Given the description of an element on the screen output the (x, y) to click on. 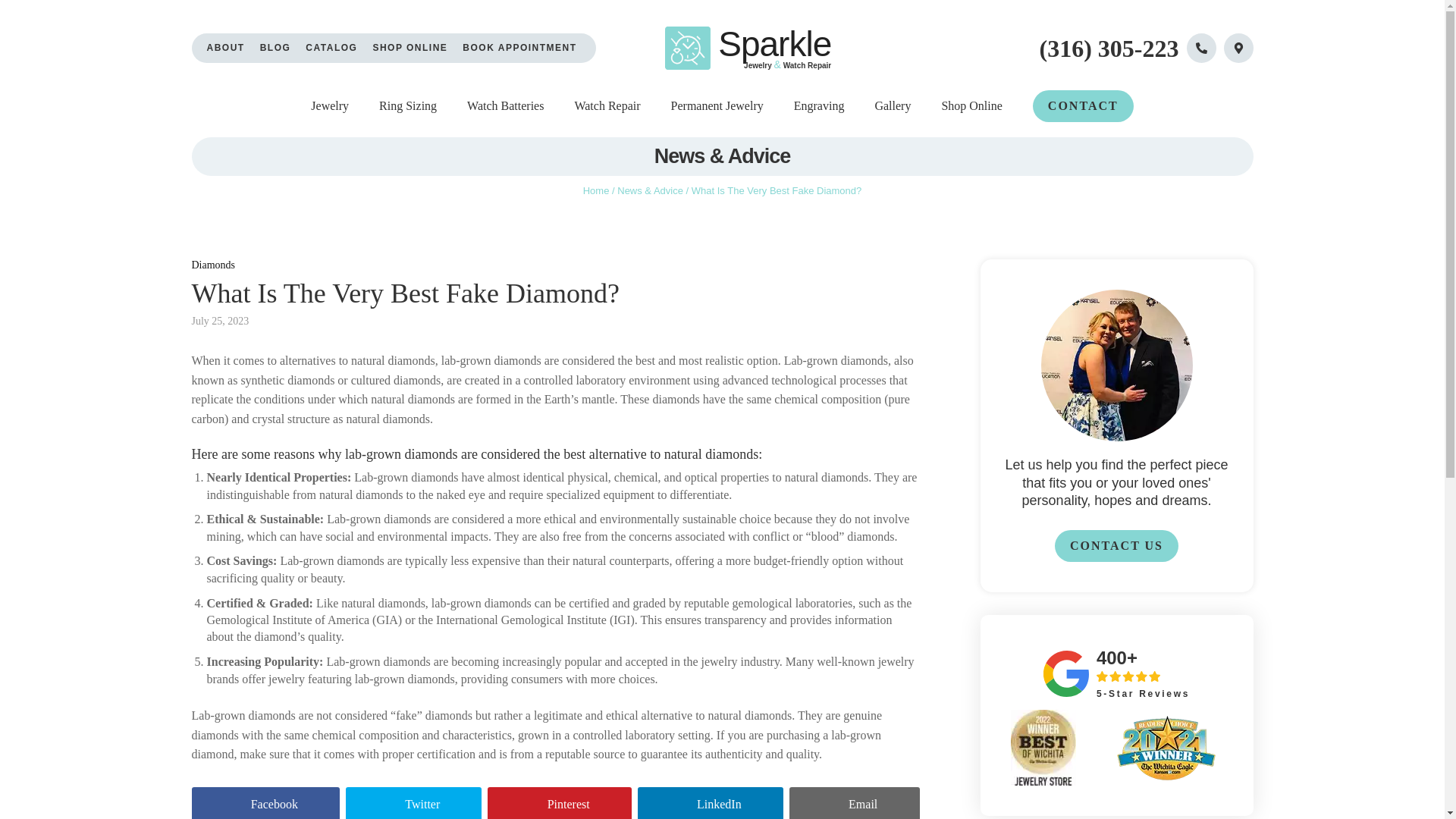
CONTACT (1083, 105)
SHOP ONLINE (409, 47)
Gallery (893, 105)
Engraving (818, 105)
CATALOG (330, 47)
Jewelry (330, 105)
Watch Repair (606, 105)
ABOUT (225, 47)
BOOK APPOINTMENT (519, 47)
Watch Batteries (505, 105)
BLOG (275, 47)
Permanent Jewelry (716, 105)
Ring Sizing (407, 105)
Shop Online (970, 105)
